Given the description of an element on the screen output the (x, y) to click on. 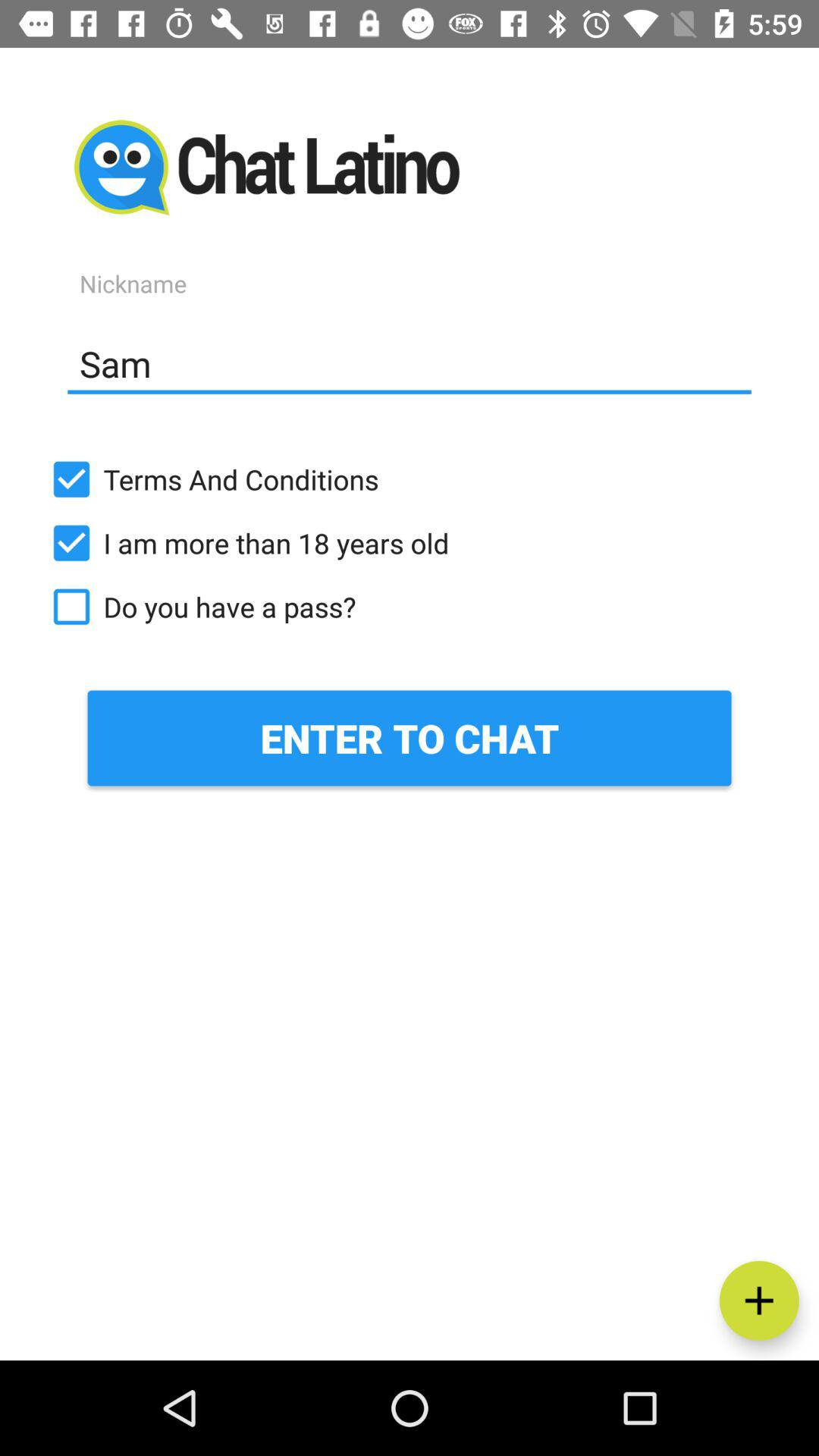
tap the icon below the sam (409, 479)
